Given the description of an element on the screen output the (x, y) to click on. 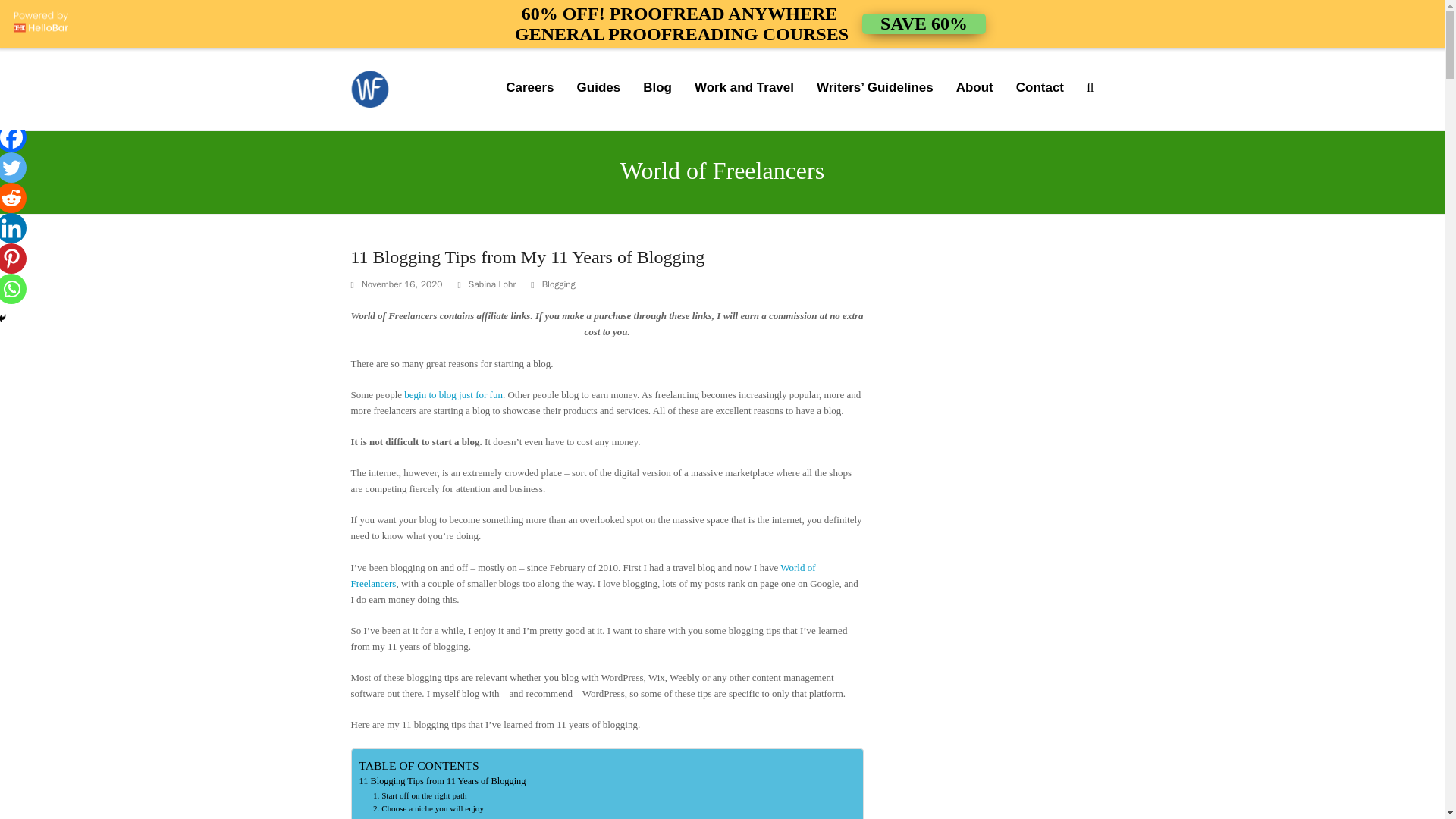
Contact (1039, 88)
About (974, 88)
Guides (442, 781)
1. Start off on the right path (598, 88)
Blog (439, 817)
Work and Travel (419, 796)
2. Choose a niche you will enjoy (656, 88)
Careers (743, 88)
